Given the description of an element on the screen output the (x, y) to click on. 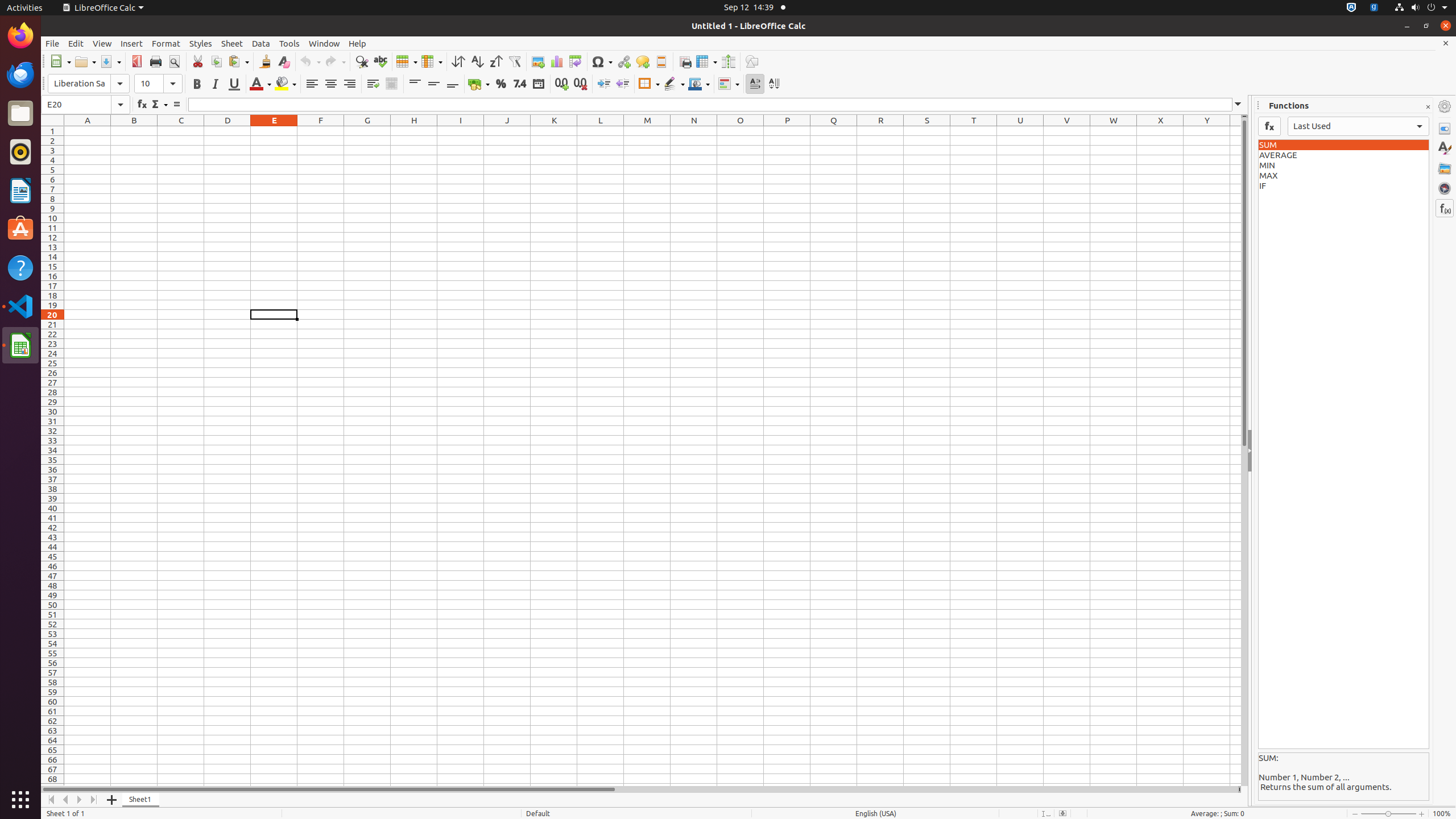
Expand Formula Bar Element type: push-button (1237, 104)
Move To End Element type: push-button (94, 799)
Data Element type: menu (260, 43)
Image Element type: push-button (537, 61)
New Element type: push-button (59, 61)
